Given the description of an element on the screen output the (x, y) to click on. 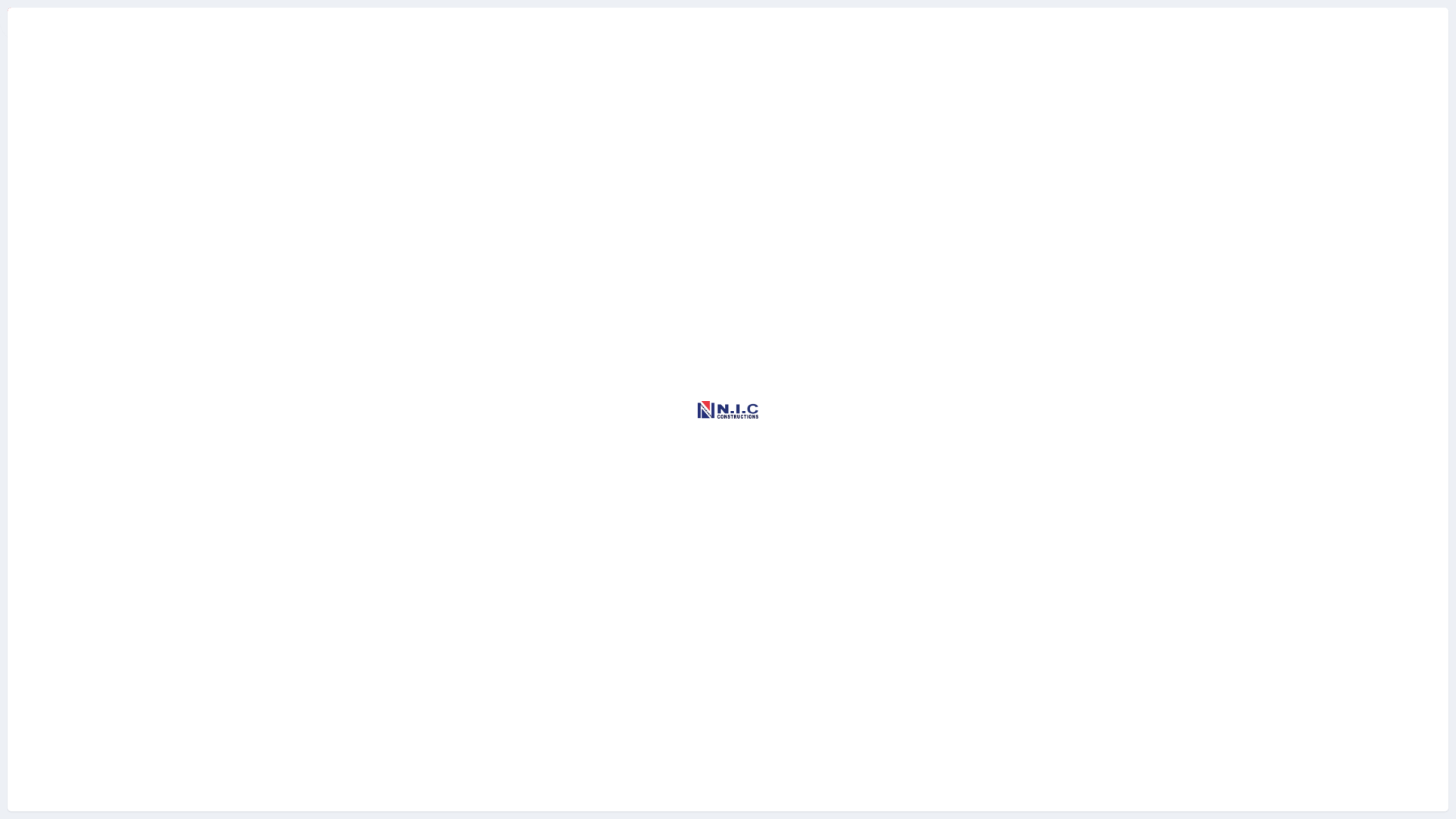
ABOUT US Element type: text (668, 37)
PORTFOLIO Element type: text (758, 37)
SEND REQUEST Element type: text (1336, 38)
HOME Element type: text (595, 37)
CONTACT US Element type: text (854, 37)
